Given the description of an element on the screen output the (x, y) to click on. 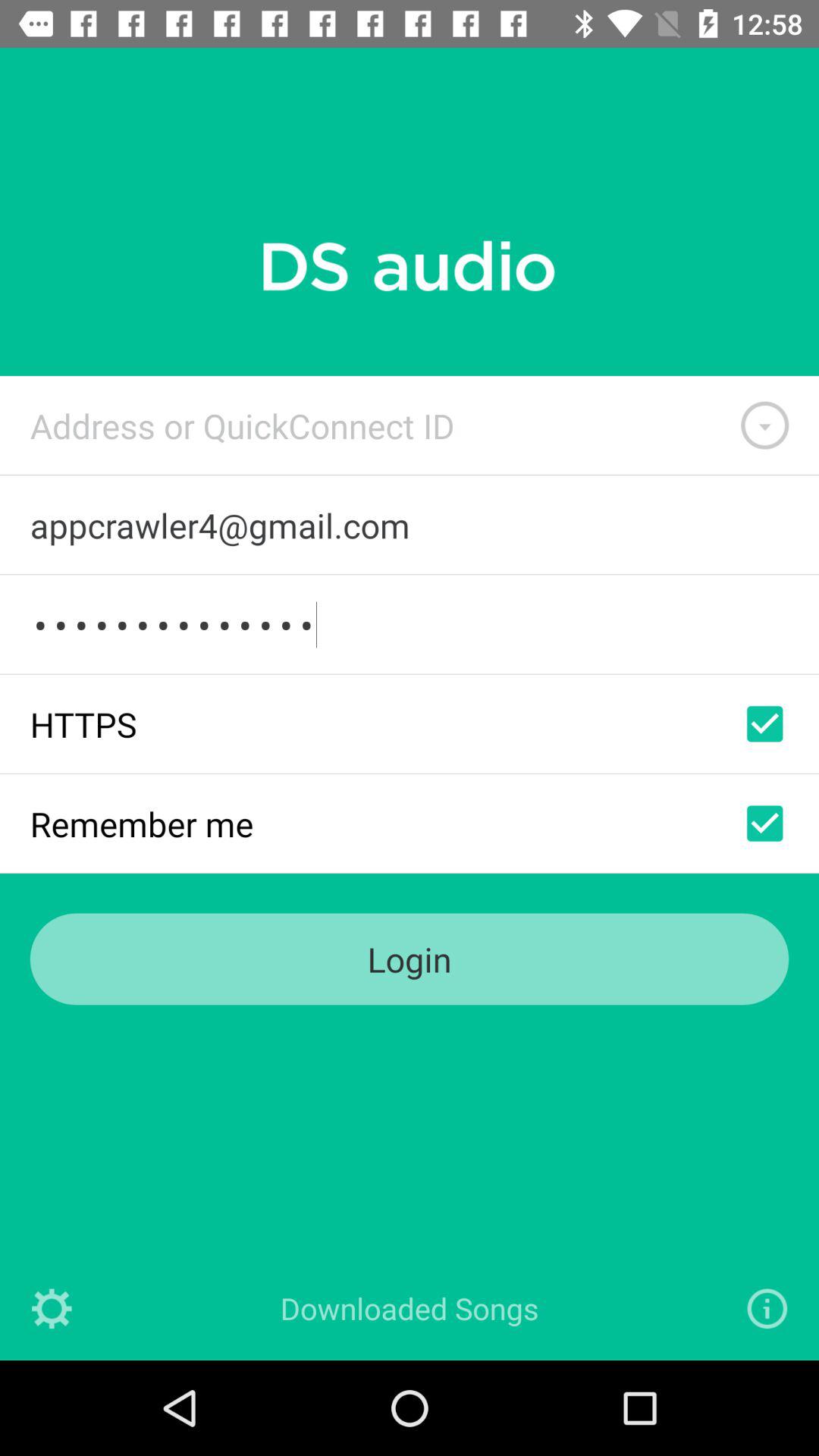
toggle remember me option (764, 823)
